Given the description of an element on the screen output the (x, y) to click on. 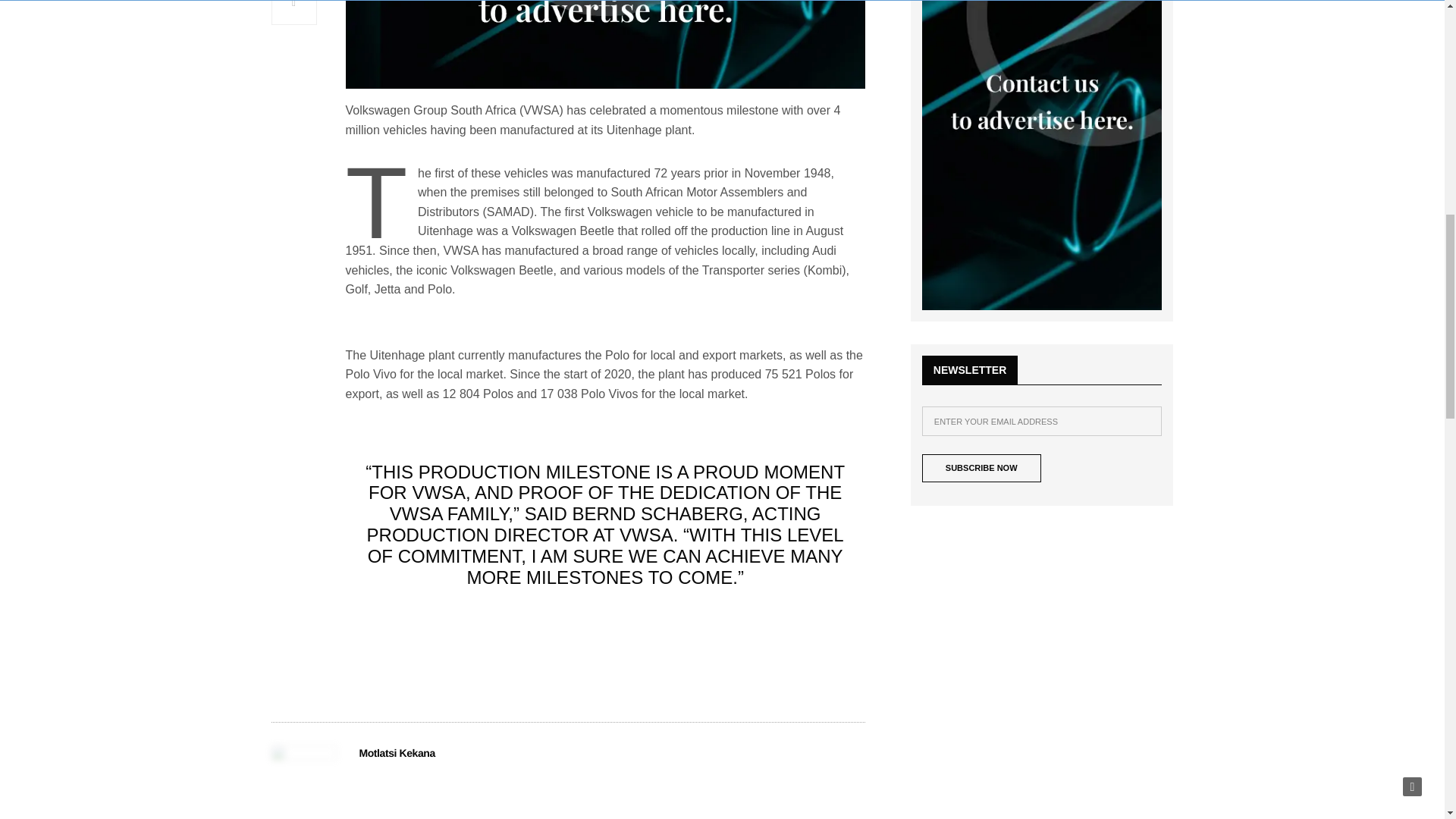
Subscribe Now (981, 468)
